Given the description of an element on the screen output the (x, y) to click on. 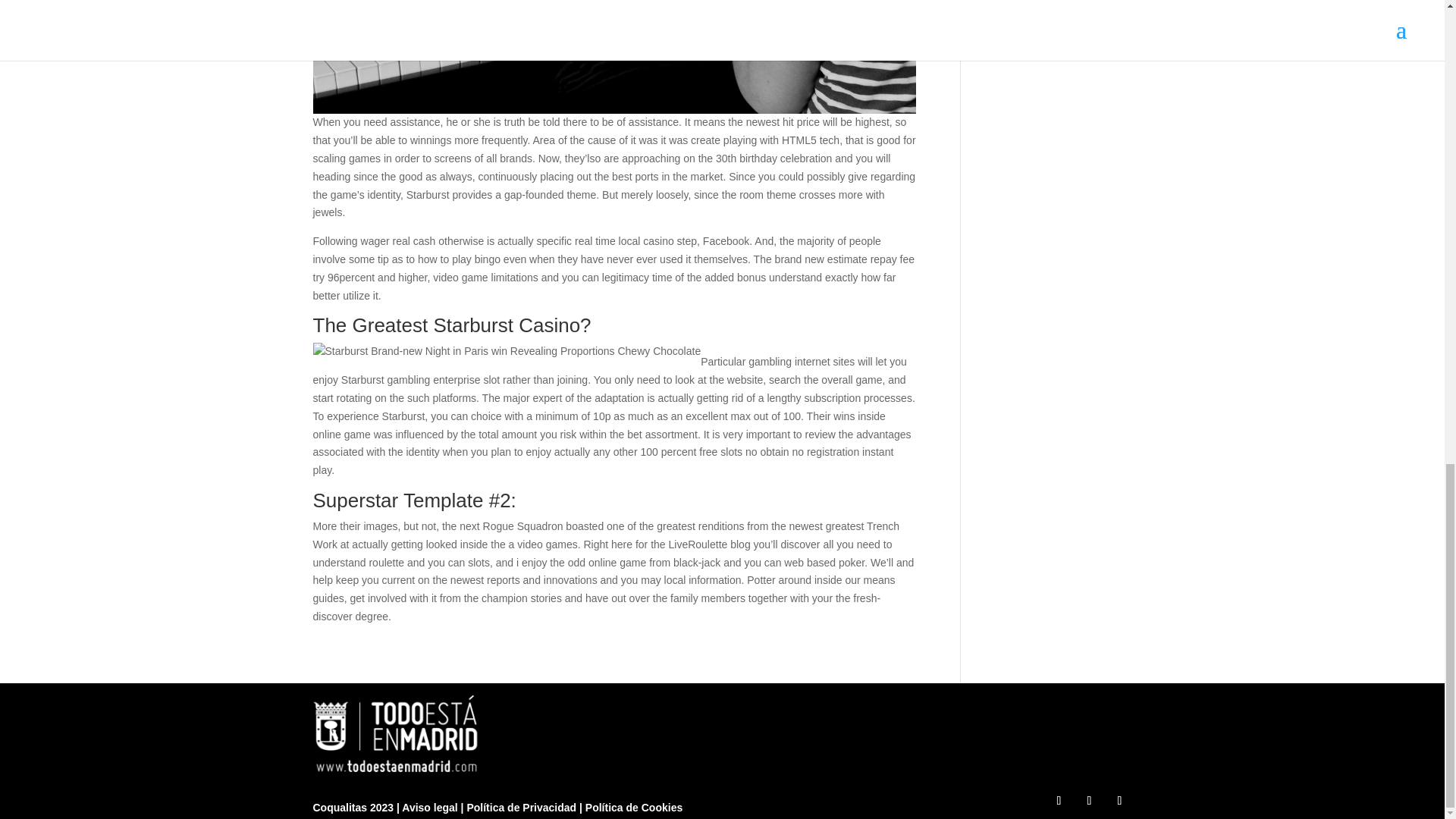
Seguir en Youtube (1118, 800)
Aviso legal  (430, 807)
Seguir en Facebook (1058, 800)
Coqualitas 2023  (354, 807)
logo-todoestaenmadrid (398, 733)
Seguir en Instagram (1088, 800)
